Given the description of an element on the screen output the (x, y) to click on. 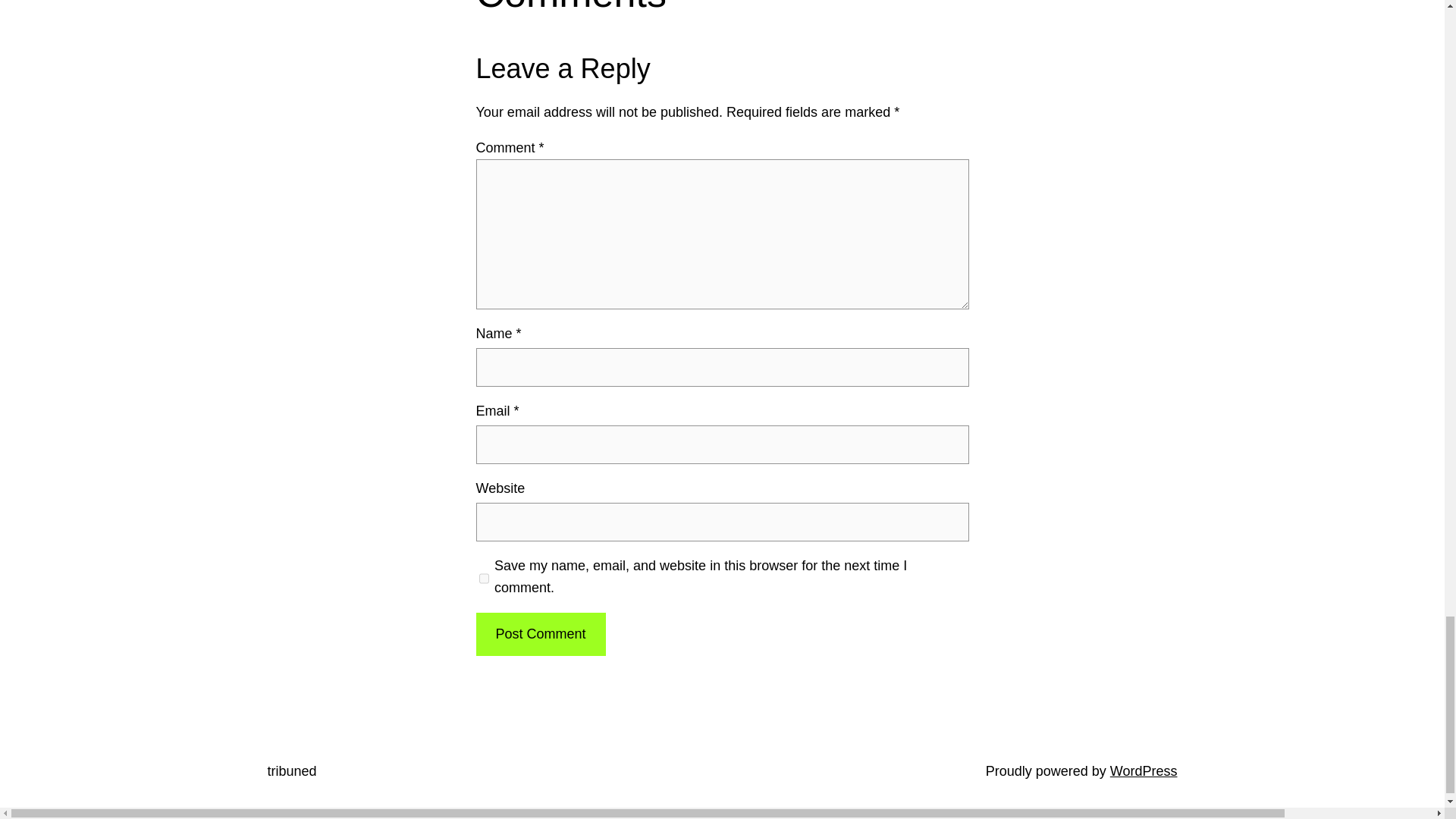
tribuned (290, 770)
Post Comment (540, 634)
Post Comment (540, 634)
WordPress (1143, 770)
